Given the description of an element on the screen output the (x, y) to click on. 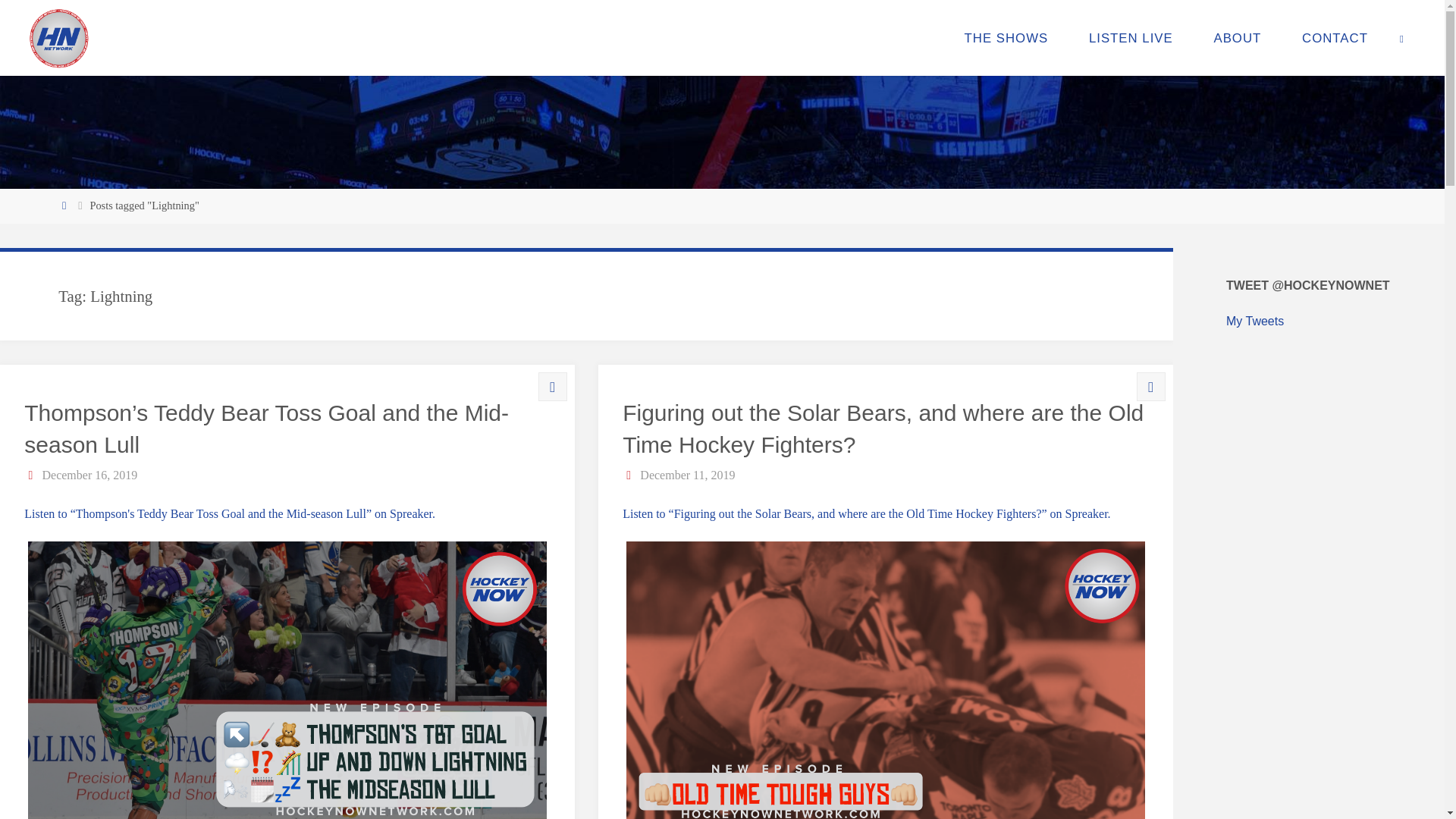
Hockey Now Network (58, 37)
Audio (1149, 386)
Date (31, 474)
Audio (551, 386)
LISTEN LIVE (1130, 38)
THE SHOWS (1005, 38)
CONTACT (1335, 38)
Date (630, 474)
ABOUT (1237, 38)
